Given the description of an element on the screen output the (x, y) to click on. 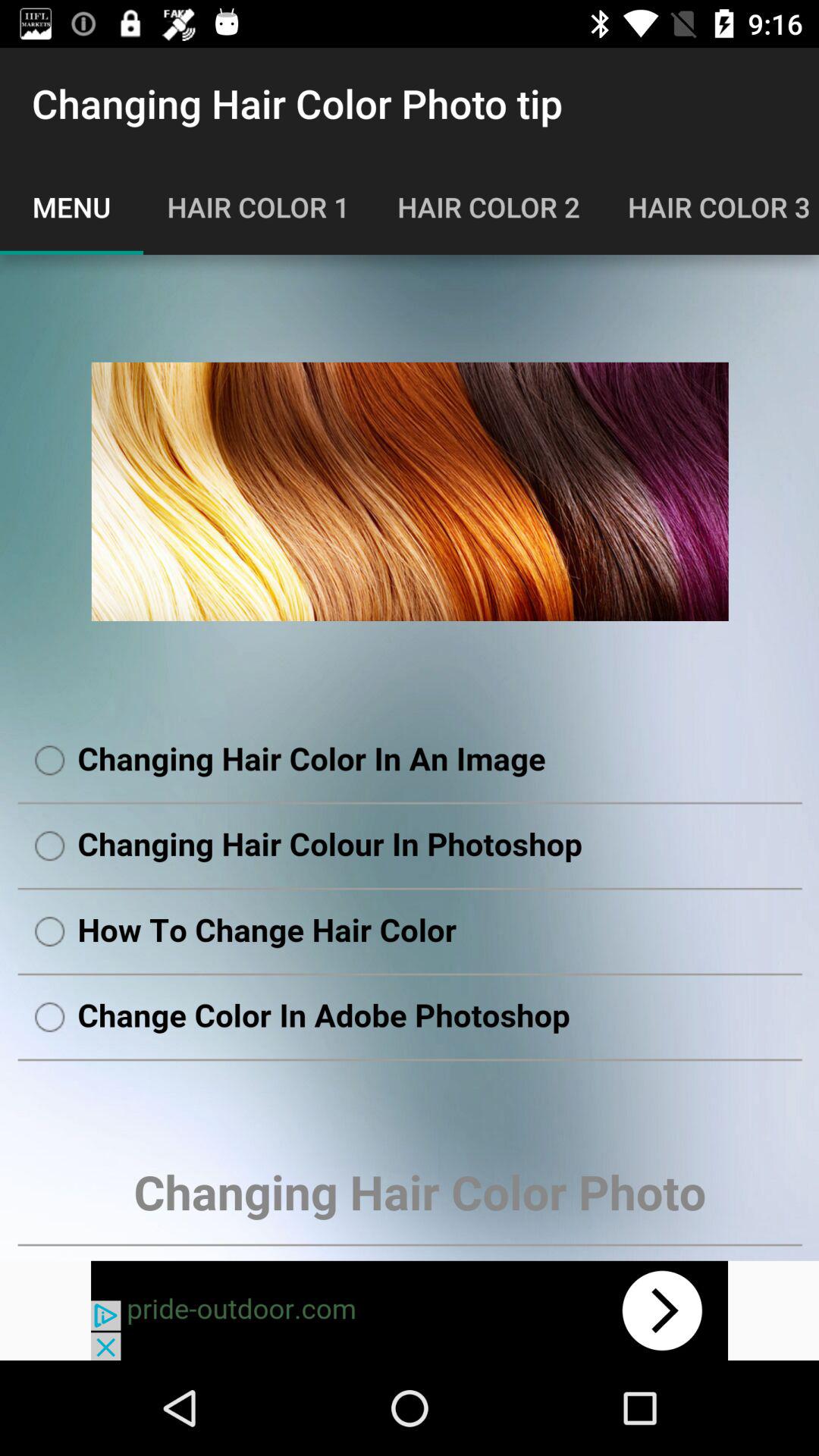
go to next (409, 1310)
